Given the description of an element on the screen output the (x, y) to click on. 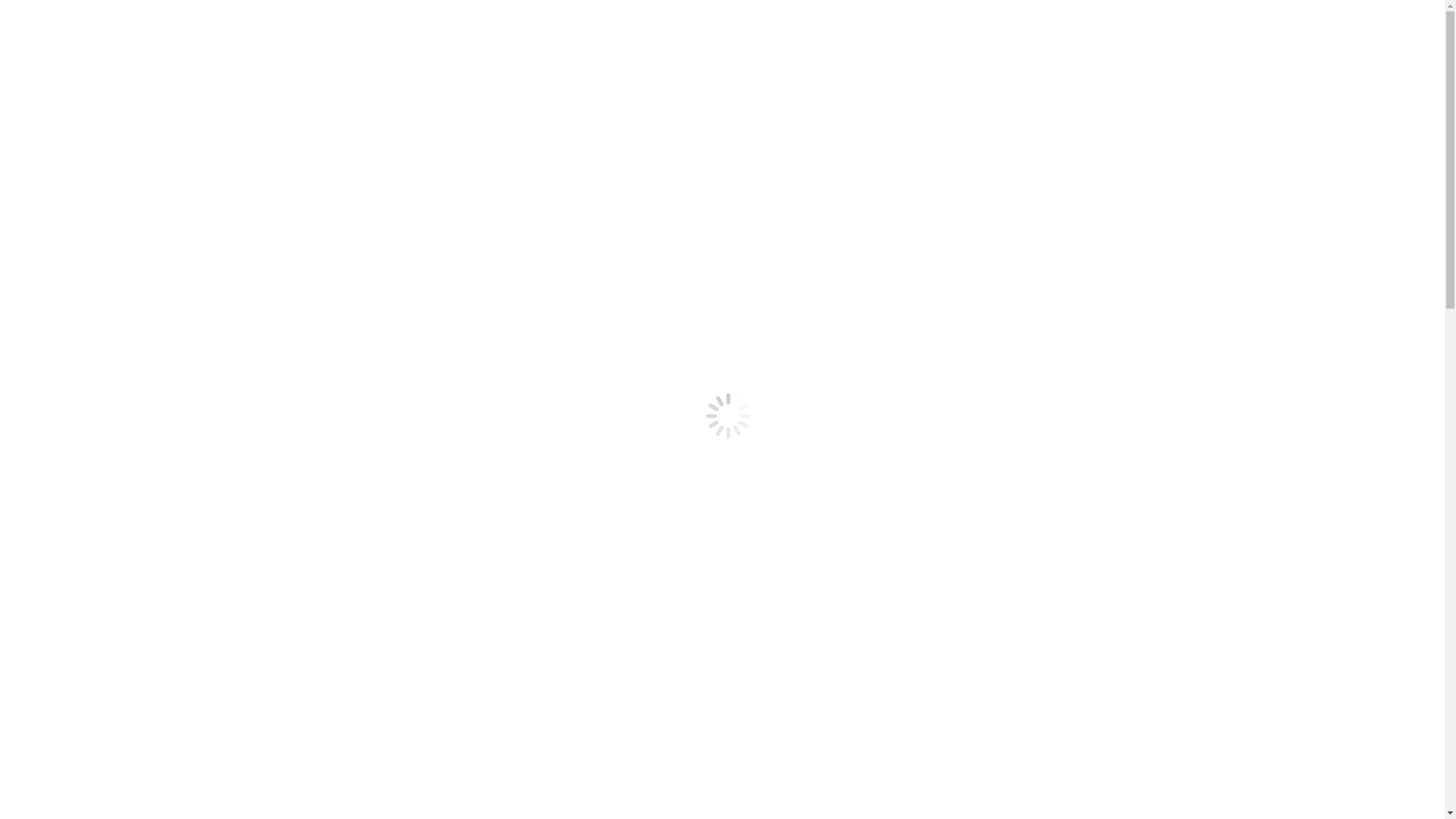
RESERVATION Element type: text (76, 348)
Galerie Photo Element type: text (130, 321)
Skip to content Element type: text (42, 12)
Qui Sommes Nous ? Element type: text (86, 92)
Qui Sommes Nous ? Element type: text (86, 253)
Vins Element type: text (77, 147)
Facebook page opens in new window Element type: text (280, 213)
Cuisine Element type: text (84, 119)
Accueil Element type: text (55, 78)
RESERVATION Element type: text (76, 188)
Contact Element type: text (55, 174)
Accueil Element type: text (55, 239)
Cuisine Element type: text (84, 280)
Accueil Element type: text (55, 448)
Bar Element type: text (75, 294)
Instagram page opens in new window Element type: text (97, 213)
Bar Element type: text (75, 133)
Vins Element type: text (77, 307)
Contact Element type: text (55, 335)
MENU Element type: text (54, 266)
MENU Element type: text (54, 106)
Galerie Photo Element type: text (130, 160)
